Given the description of an element on the screen output the (x, y) to click on. 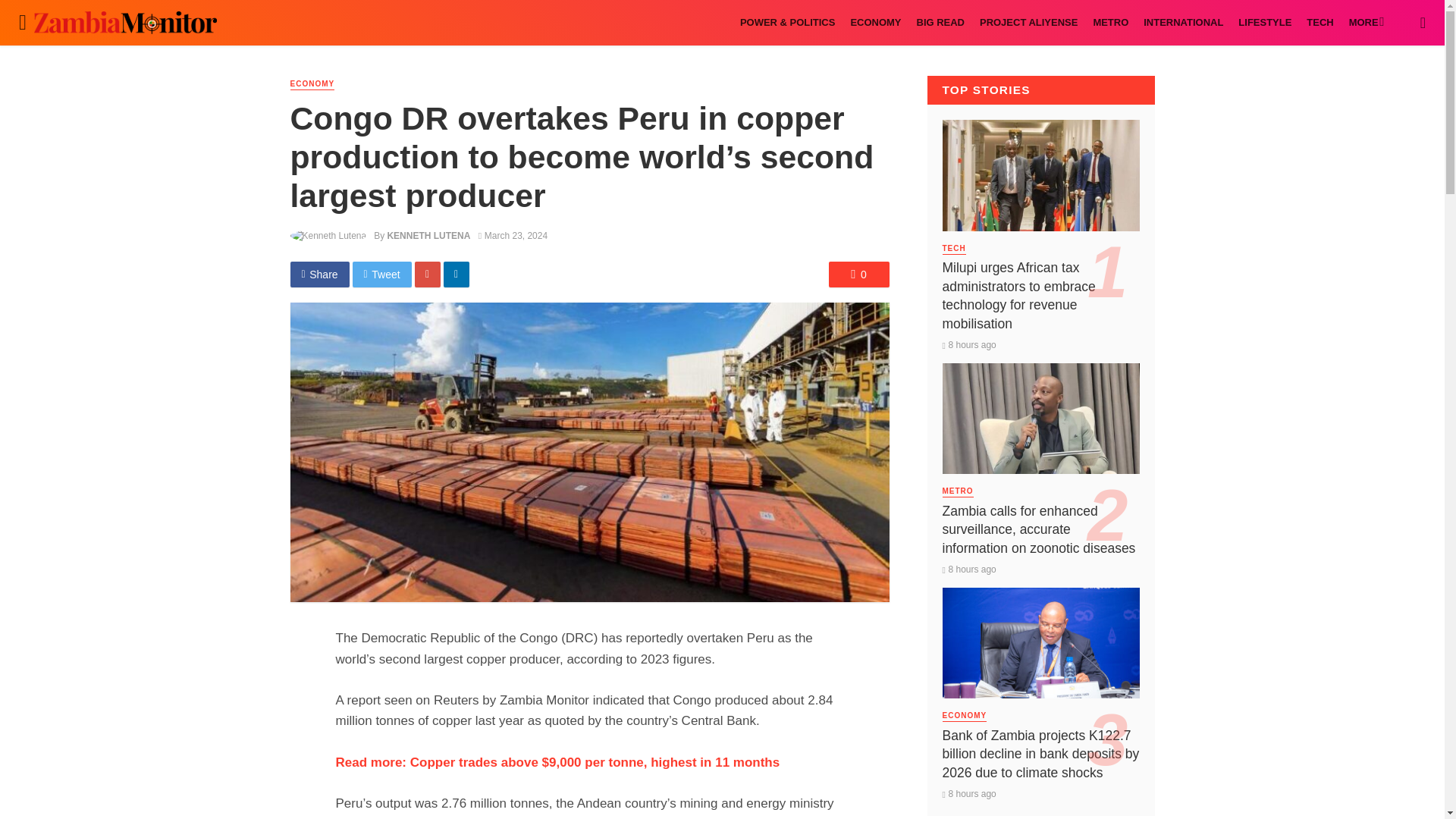
PROJECT ALIYENSE (1028, 22)
TECH (1319, 22)
ECONOMY (875, 22)
INTERNATIONAL (1182, 22)
BIG READ (939, 22)
METRO (1109, 22)
LIFESTYLE (1264, 22)
